Given the description of an element on the screen output the (x, y) to click on. 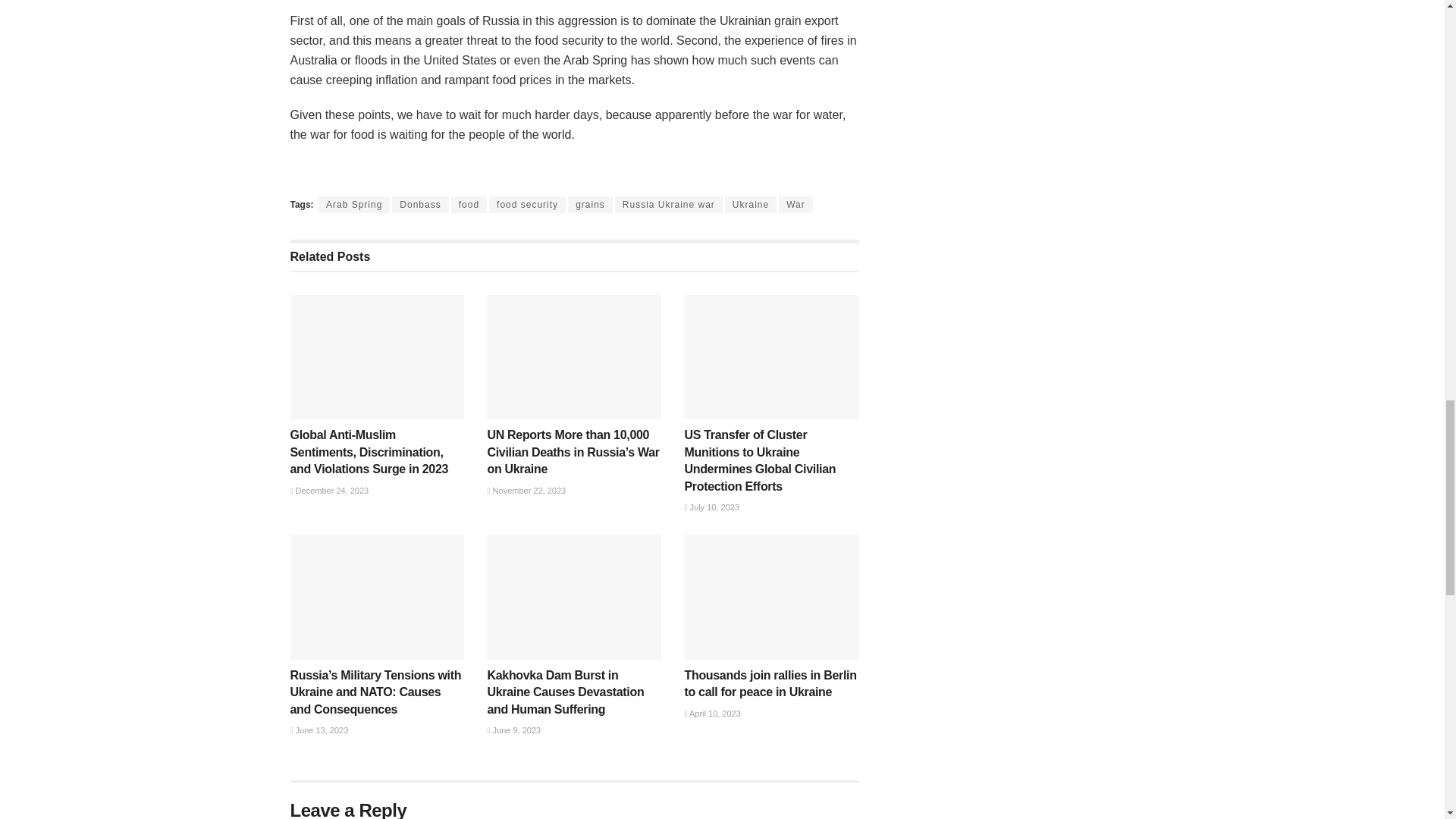
grains (589, 204)
Donbass (419, 204)
Arab Spring (354, 204)
food security (527, 204)
food (468, 204)
